Given the description of an element on the screen output the (x, y) to click on. 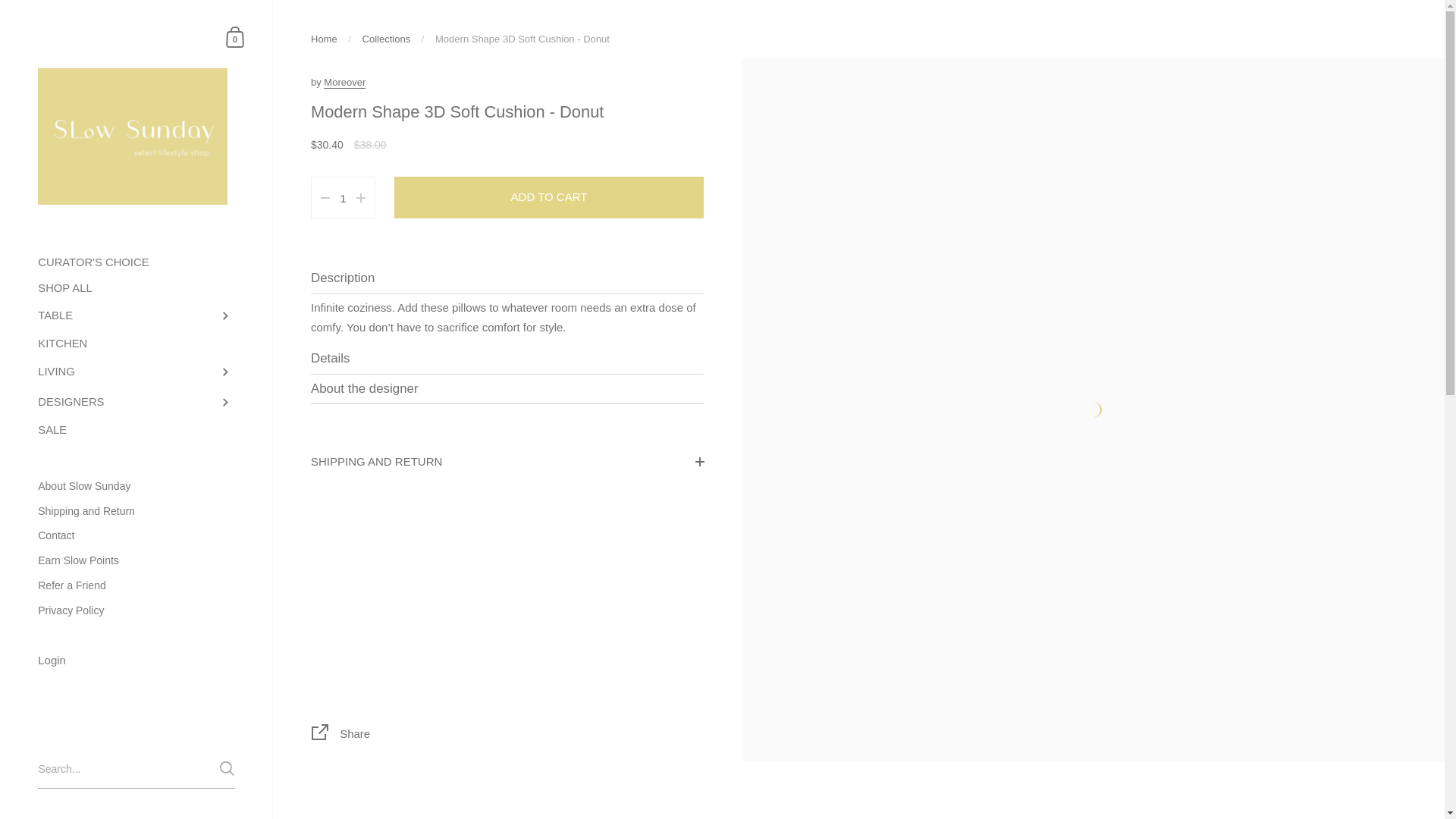
LIVING (136, 372)
KITCHEN (136, 344)
1 (342, 198)
SHOP ALL (136, 289)
Shopping Cart (235, 35)
CURATOR'S CHOICE (136, 263)
TABLE (136, 316)
Moreover (344, 81)
DESIGNERS (136, 402)
